Given the description of an element on the screen output the (x, y) to click on. 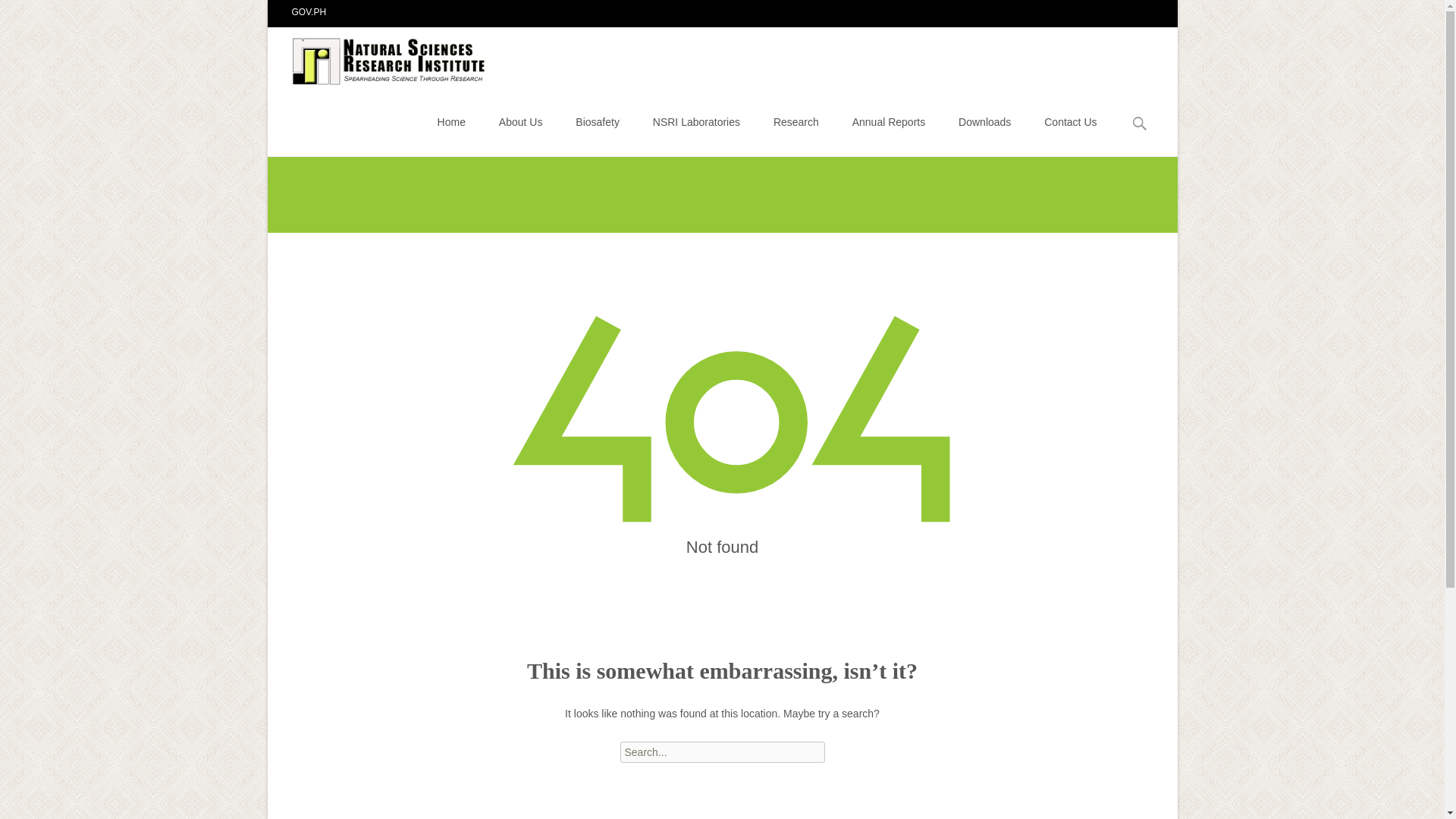
NSRI Laboratories (695, 121)
Search (18, 14)
Natural Sciences Research Institute (378, 57)
Search for: (1139, 123)
GOV.PH (308, 11)
Search for: (722, 752)
Search (34, 14)
Annual Reports (888, 121)
